Given the description of an element on the screen output the (x, y) to click on. 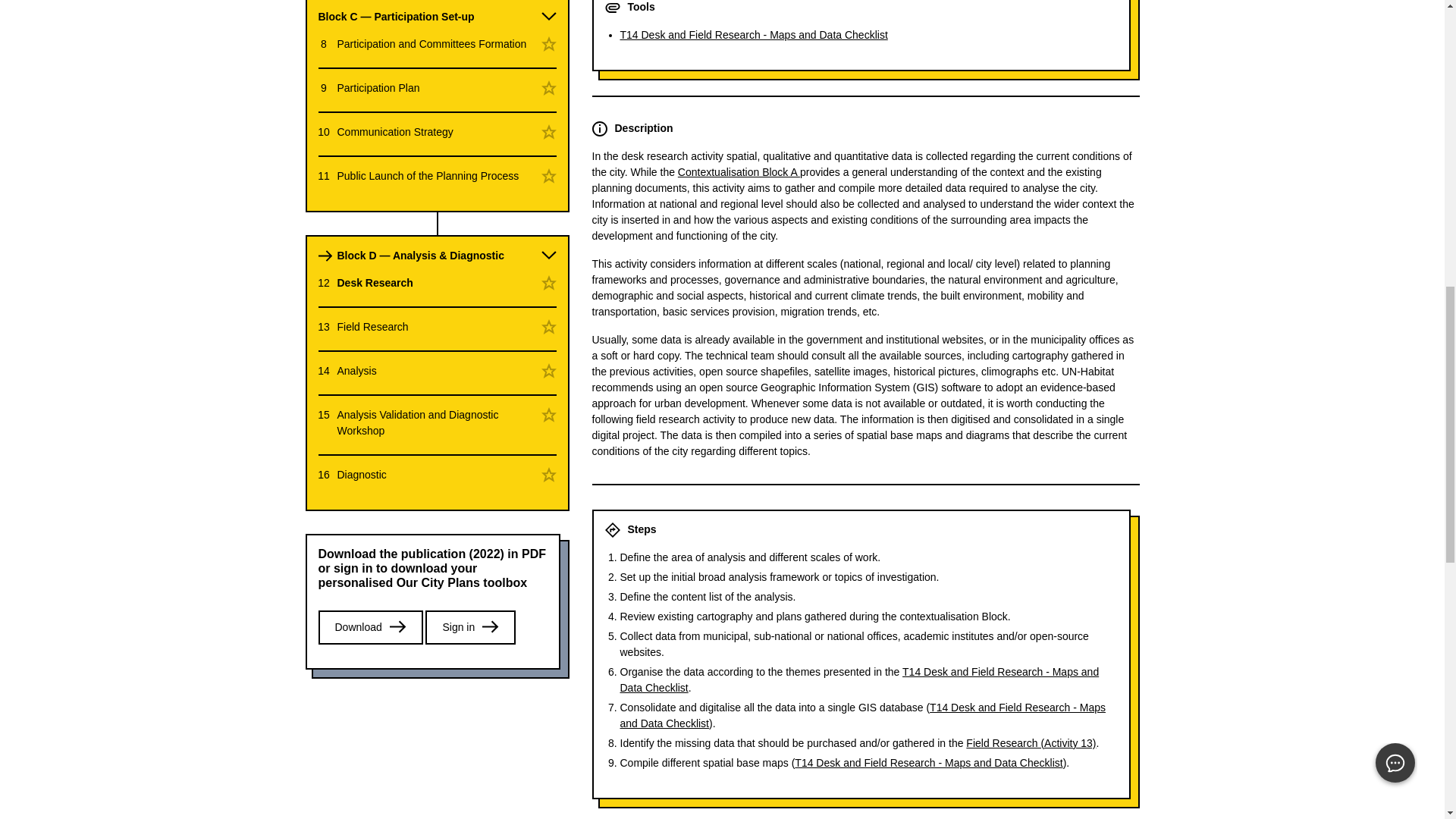
T14 (862, 715)
T14 (859, 679)
T14 (928, 762)
